Given the description of an element on the screen output the (x, y) to click on. 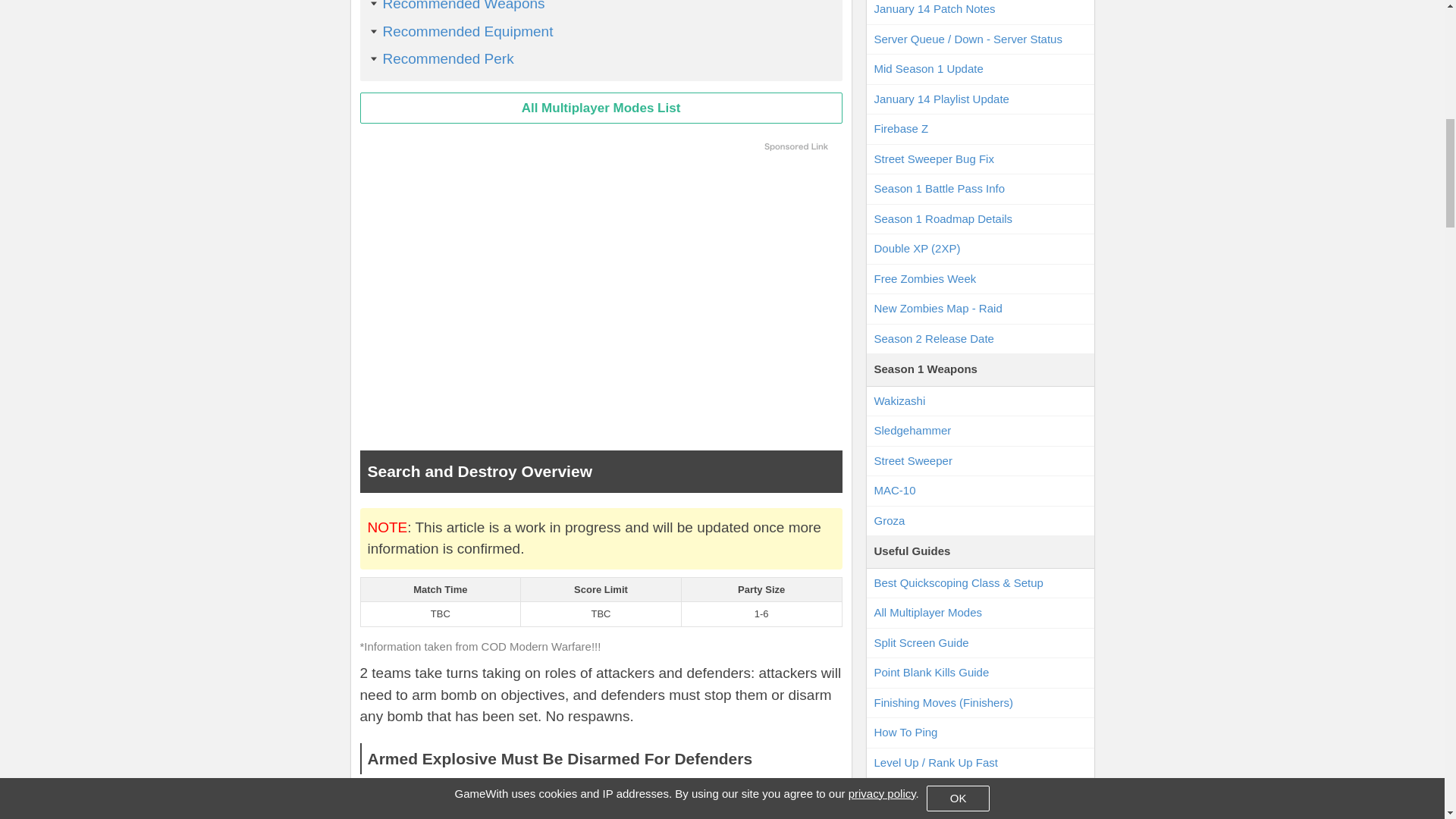
Recommended Equipment (467, 30)
All Multiplayer Modes List (600, 108)
Recommended Perk (447, 58)
Recommended Weapons (462, 5)
